Given the description of an element on the screen output the (x, y) to click on. 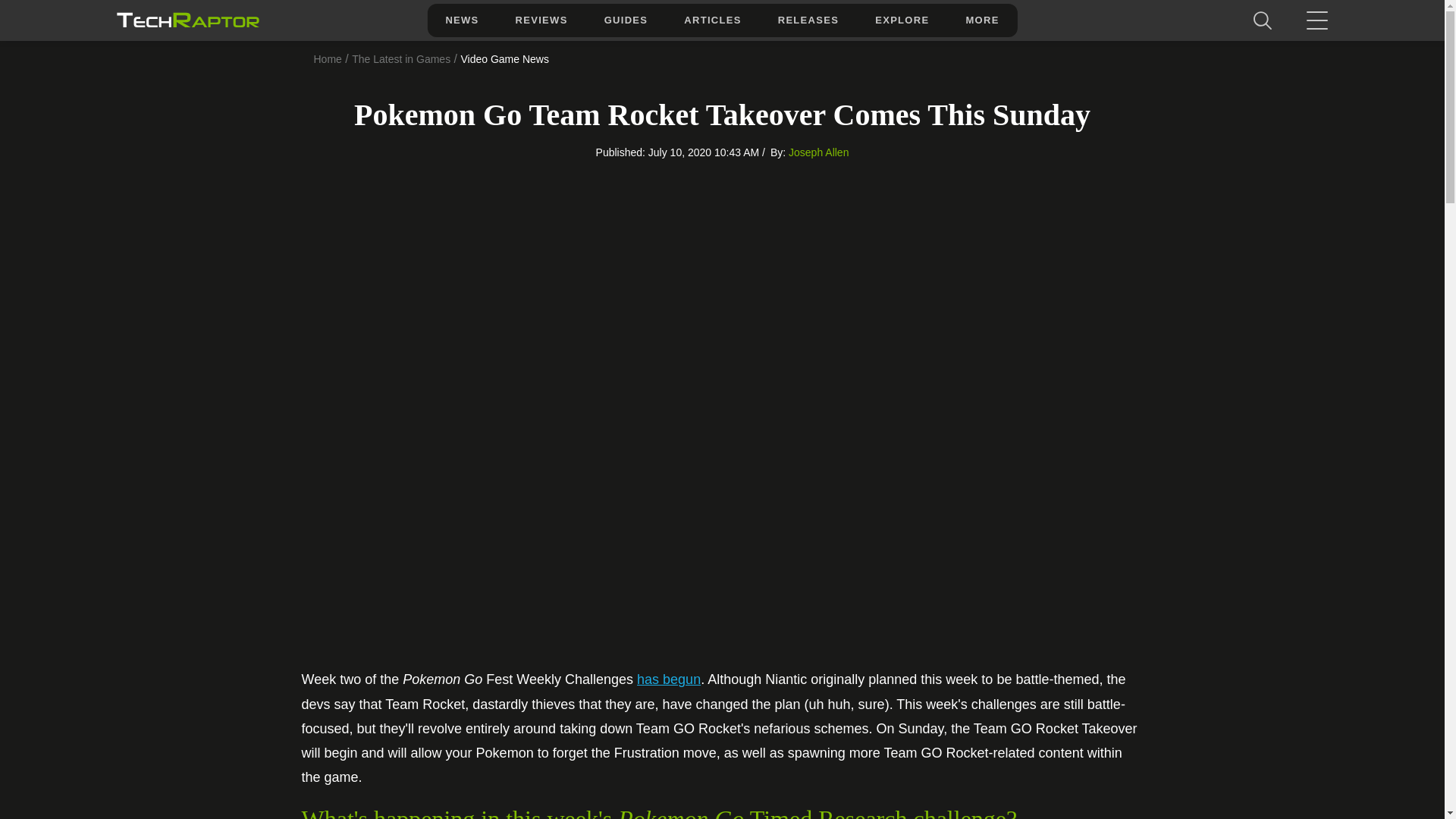
TechRaptor Home (187, 20)
NEWS (461, 20)
RELEASES (807, 20)
GUIDES (626, 20)
REVIEWS (541, 20)
ARTICLES (711, 20)
